Given the description of an element on the screen output the (x, y) to click on. 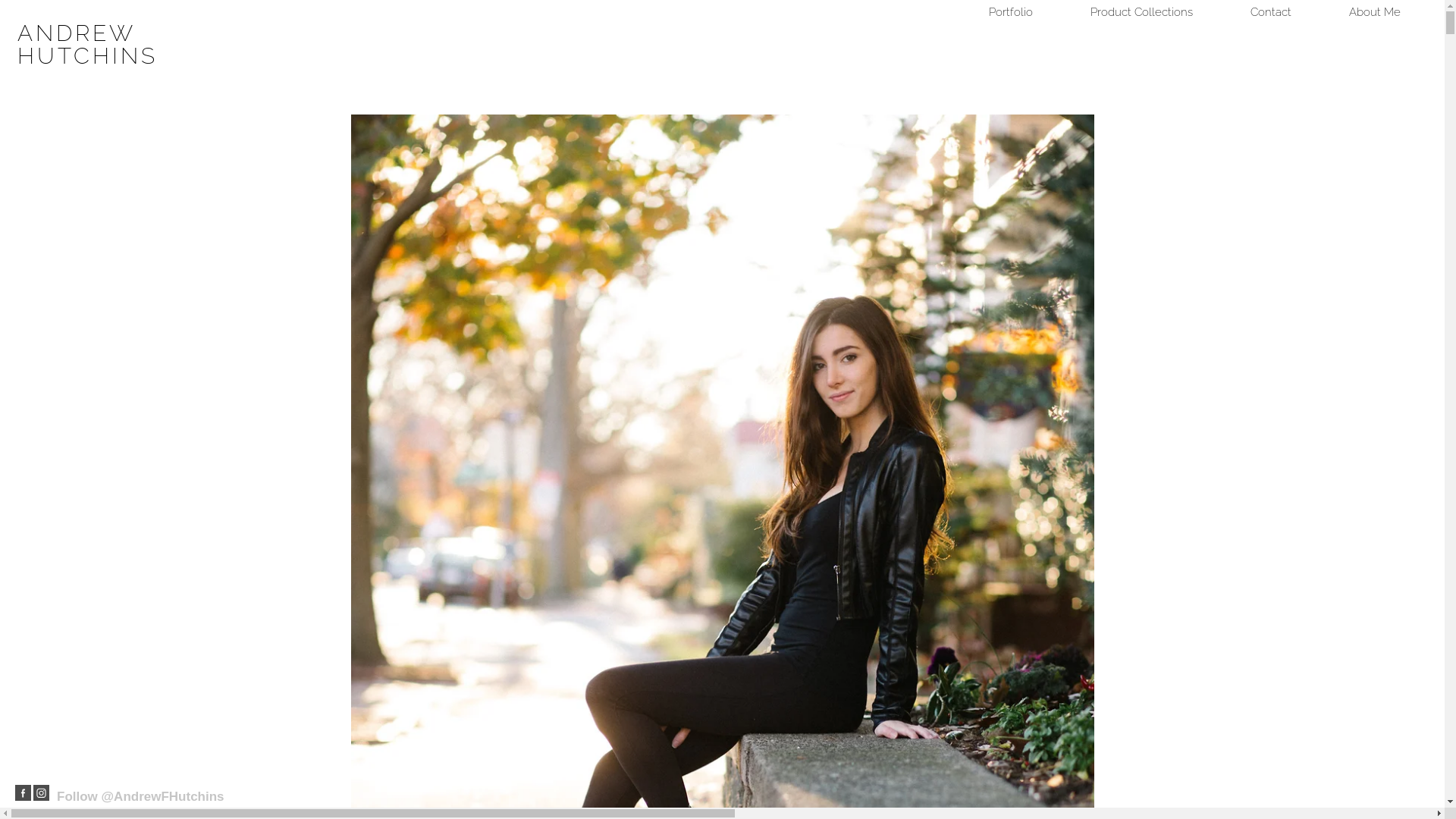
ANDREW HUTCHINS Element type: text (94, 44)
About Me Element type: text (1374, 12)
Product Collections Element type: text (1141, 12)
Follow @AndrewFHutchins Element type: text (140, 796)
Portfolio Element type: text (1010, 12)
Contact Element type: text (1270, 12)
